Given the description of an element on the screen output the (x, y) to click on. 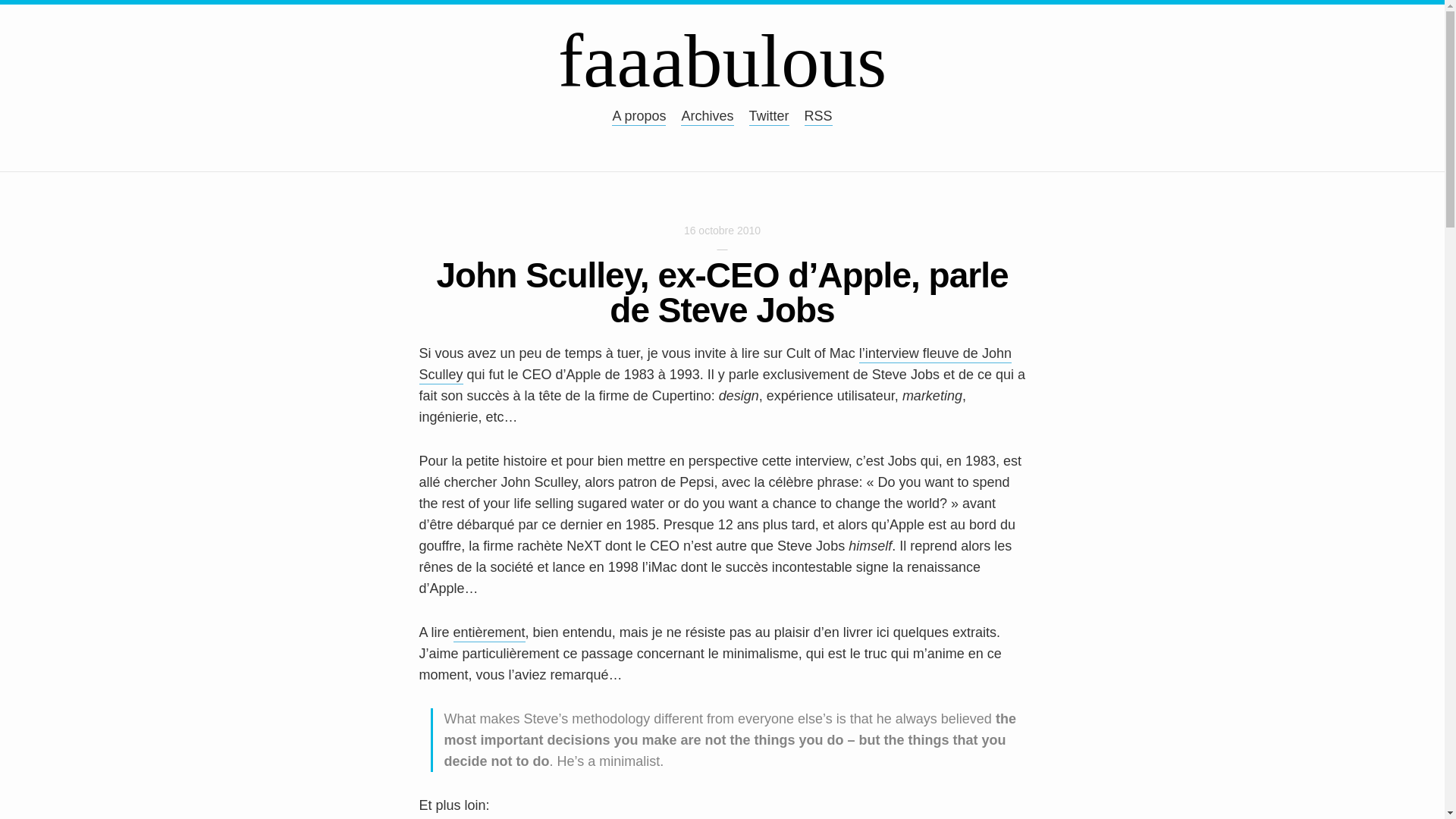
Twitter (769, 117)
faaabulous (721, 61)
RSS (818, 117)
A propos (638, 117)
Archives (707, 117)
